Given the description of an element on the screen output the (x, y) to click on. 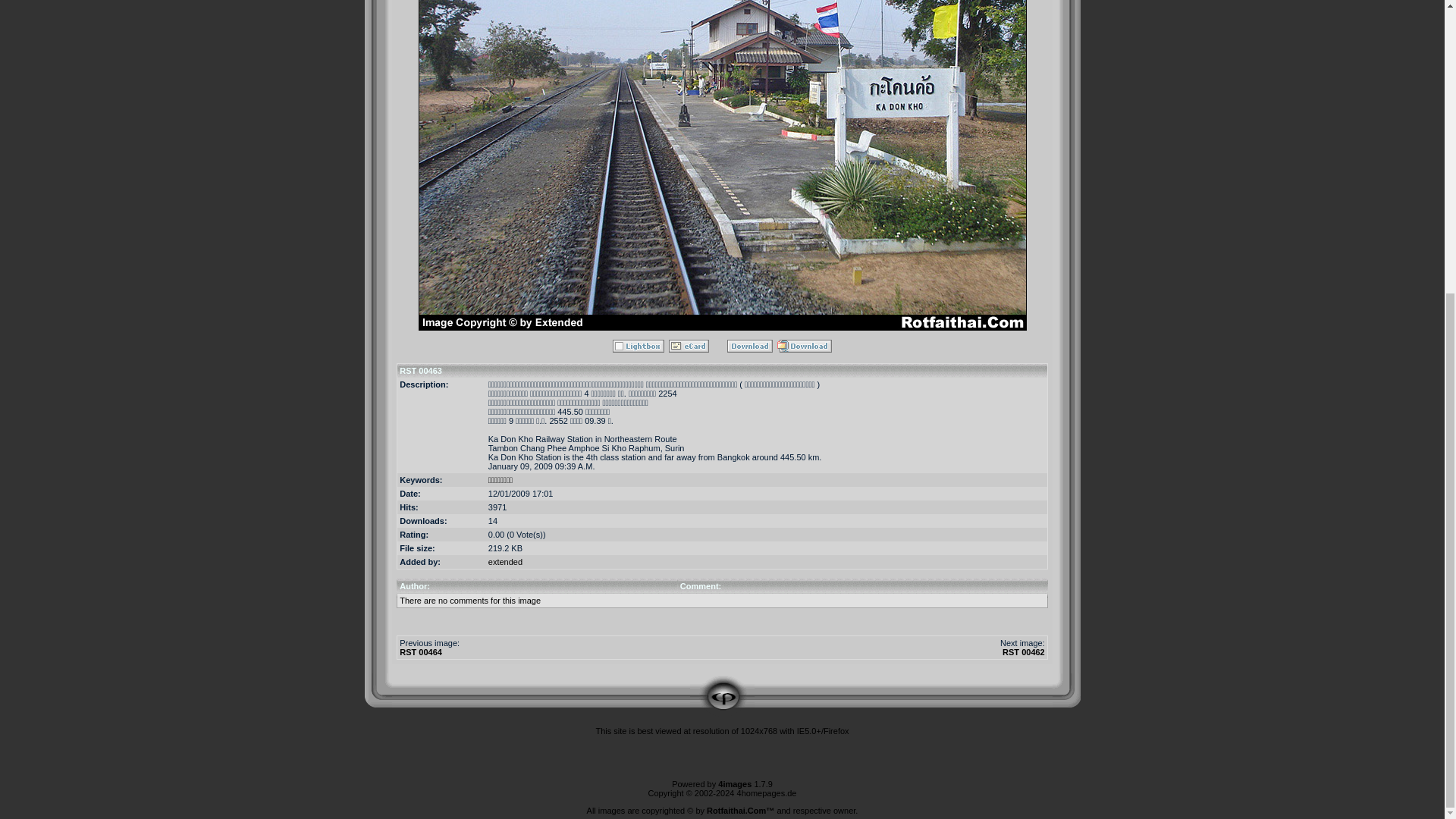
RST 00462 (1024, 651)
extended (504, 561)
RST 00464 (420, 651)
4homepages.de (766, 792)
